Given the description of an element on the screen output the (x, y) to click on. 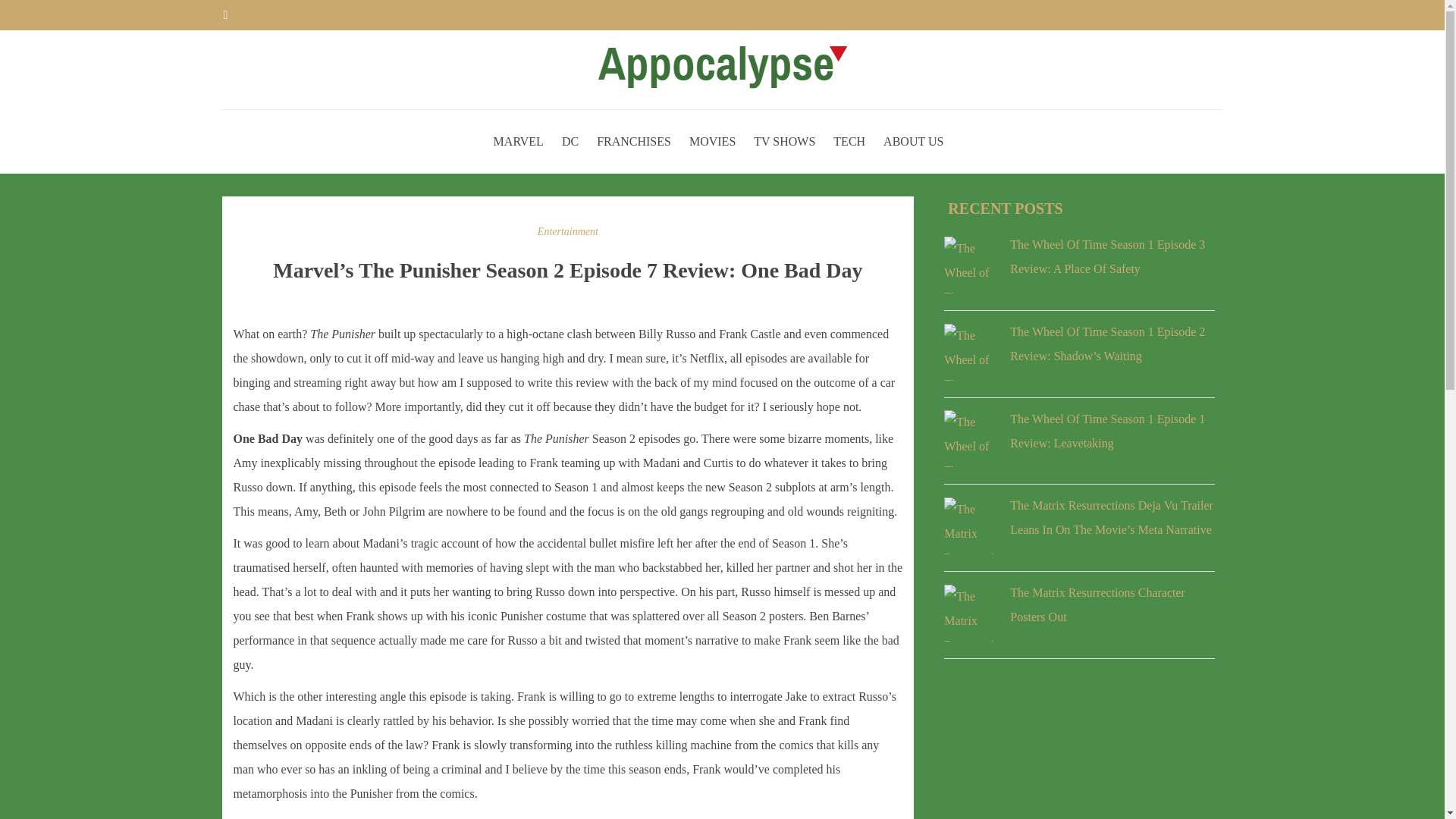
MARVEL (518, 141)
